Given the description of an element on the screen output the (x, y) to click on. 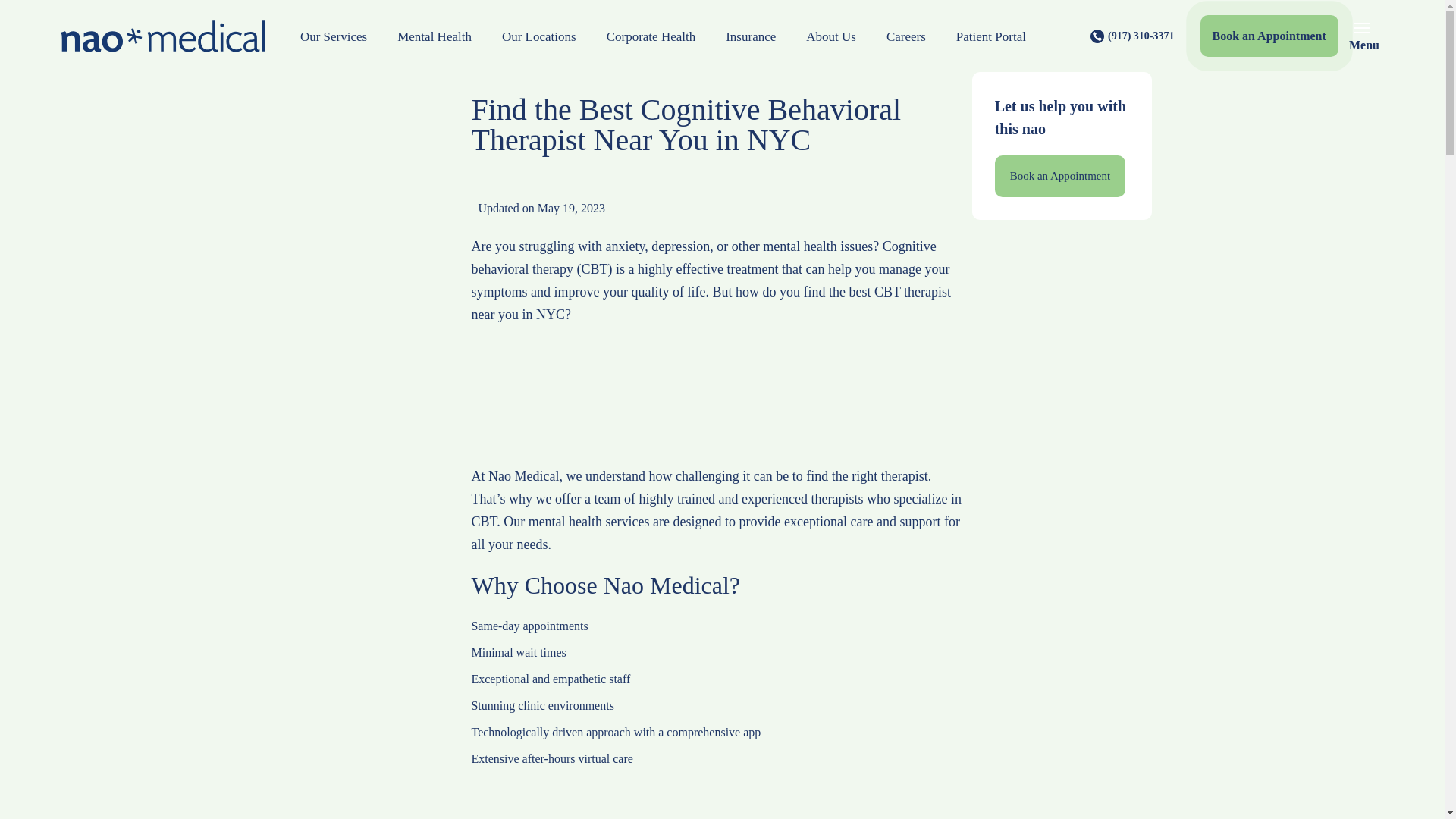
Insurance (750, 36)
Our Locations (539, 36)
Advertisement (716, 794)
Corporate Health (650, 36)
About Us (830, 36)
Mental Health (434, 36)
Our Services (333, 36)
Advertisement (717, 403)
Advertisement (1061, 754)
